Given the description of an element on the screen output the (x, y) to click on. 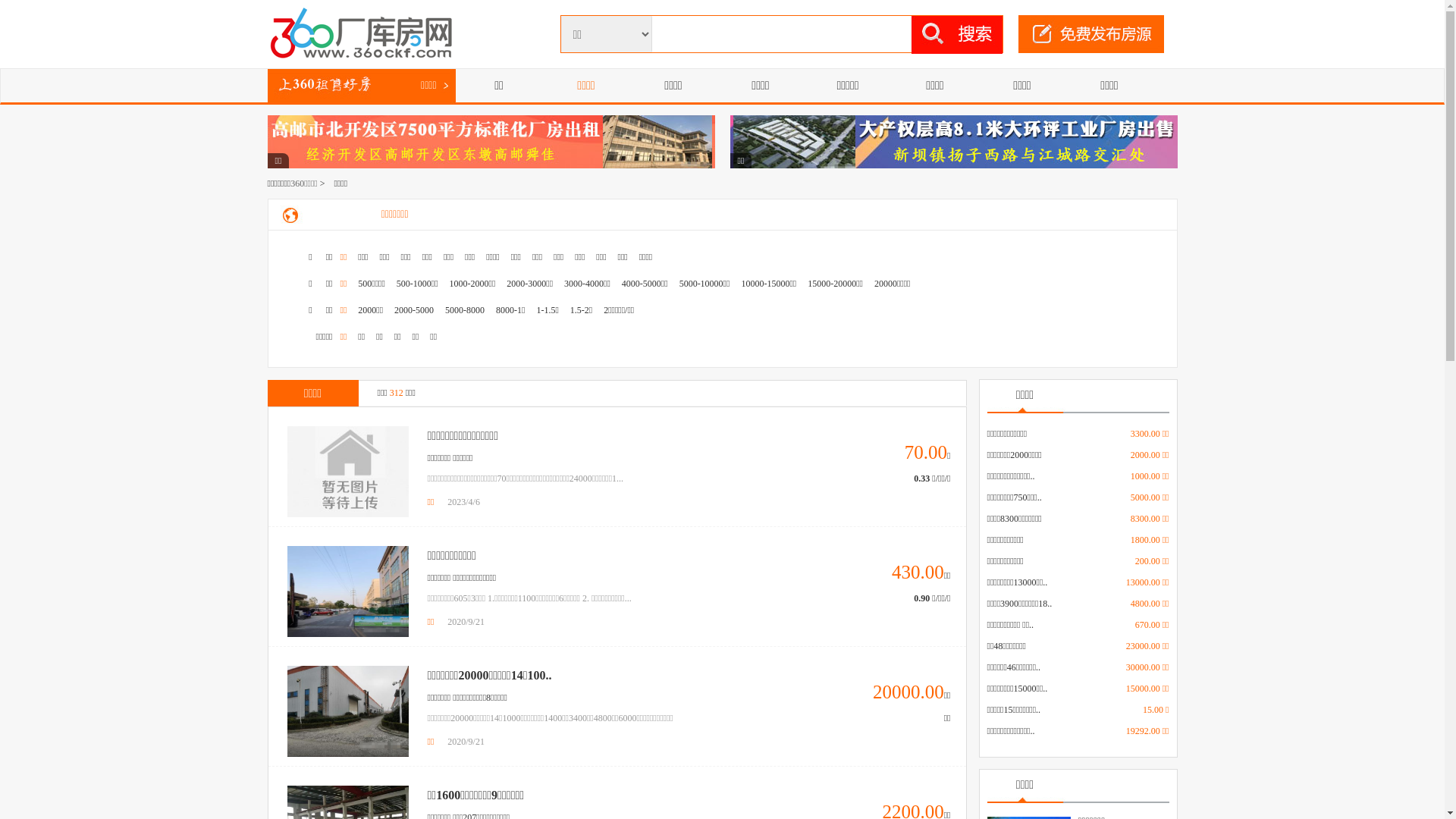
2000-5000 Element type: text (413, 310)
5000-8000 Element type: text (464, 310)
